Given the description of an element on the screen output the (x, y) to click on. 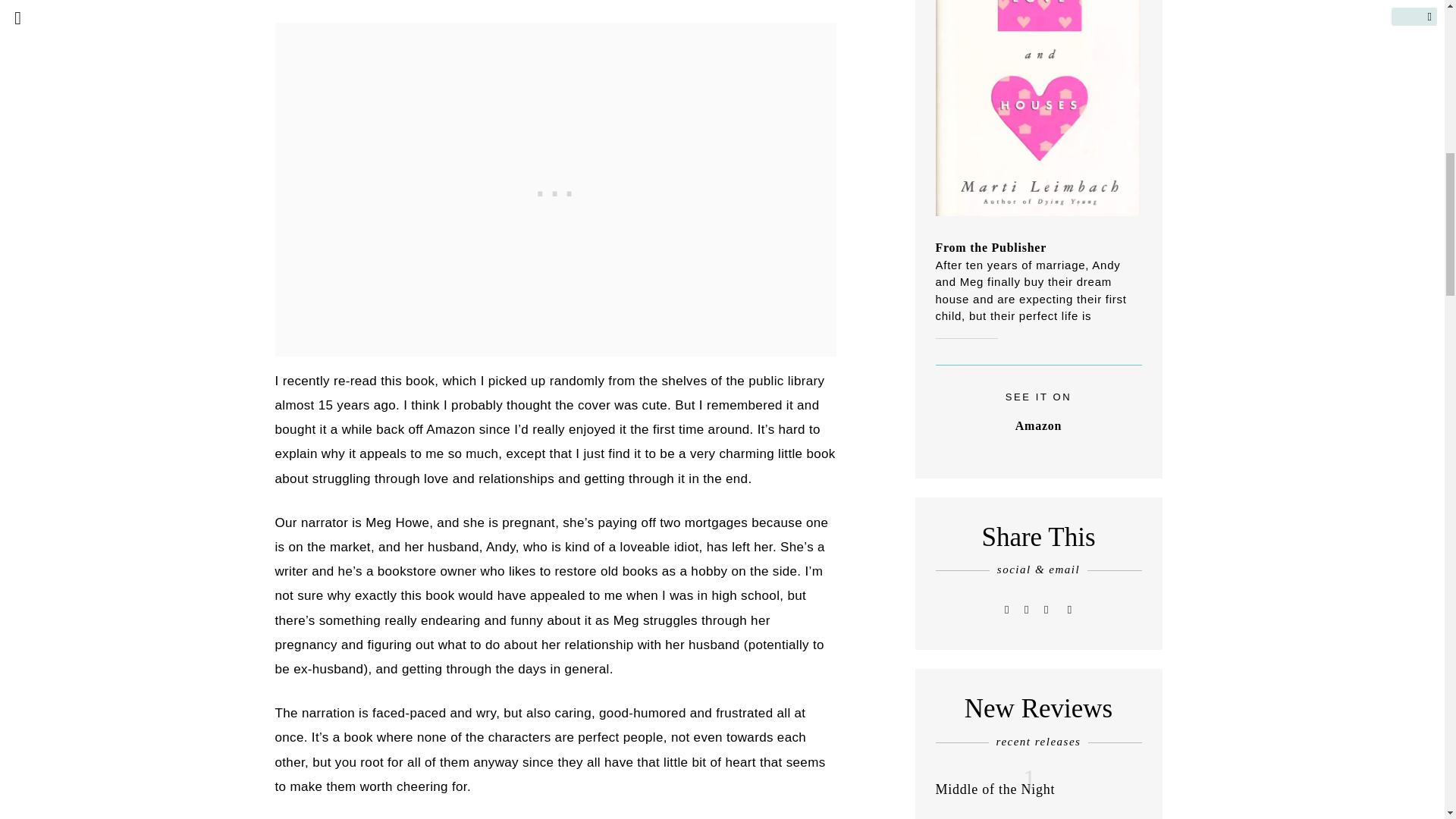
Middle of the Night (995, 789)
Tweet This (1006, 608)
